Given the description of an element on the screen output the (x, y) to click on. 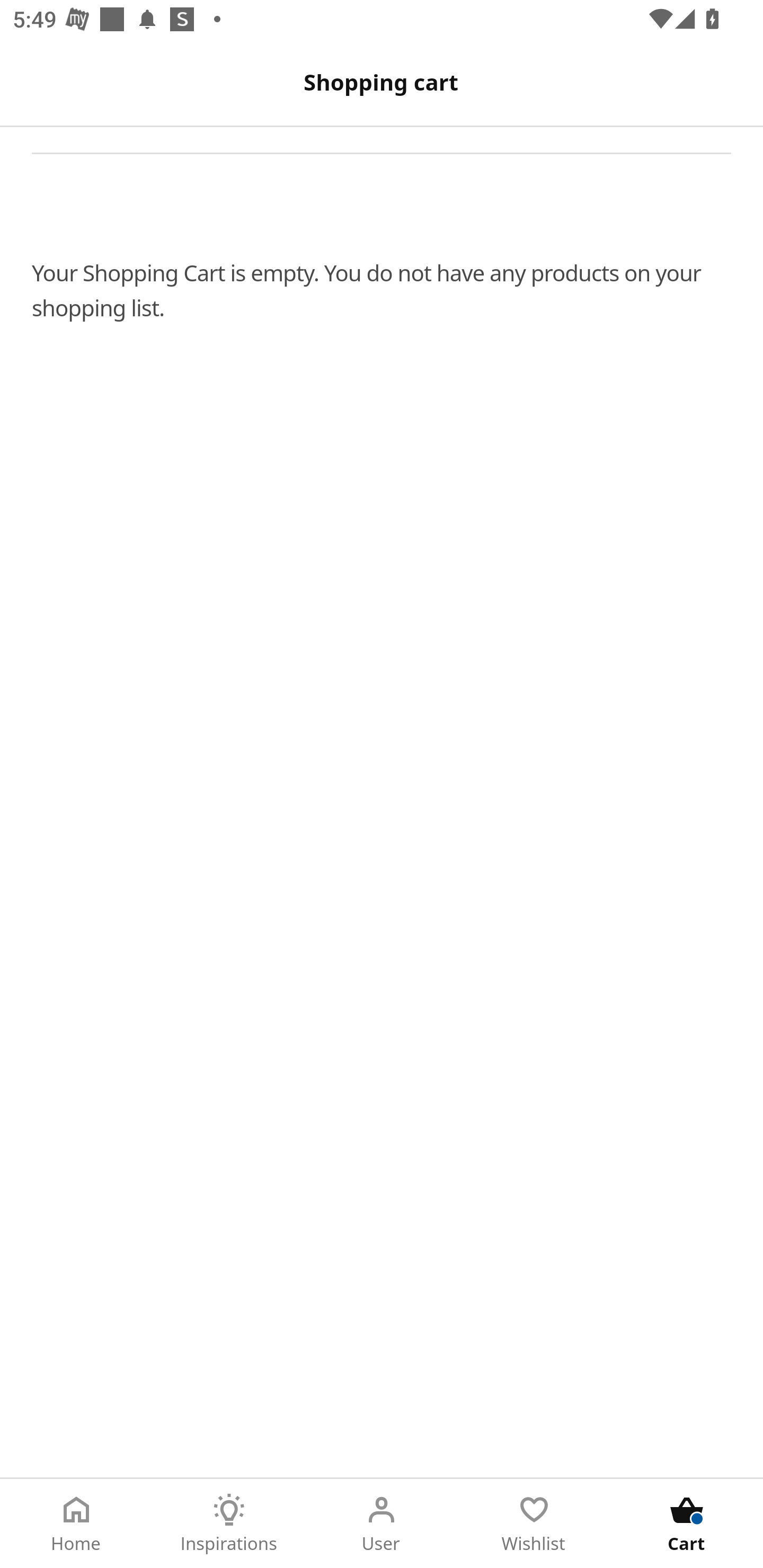
Home
Tab 1 of 5 (76, 1522)
Inspirations
Tab 2 of 5 (228, 1522)
User
Tab 3 of 5 (381, 1522)
Wishlist
Tab 4 of 5 (533, 1522)
Cart
Tab 5 of 5 (686, 1522)
